Given the description of an element on the screen output the (x, y) to click on. 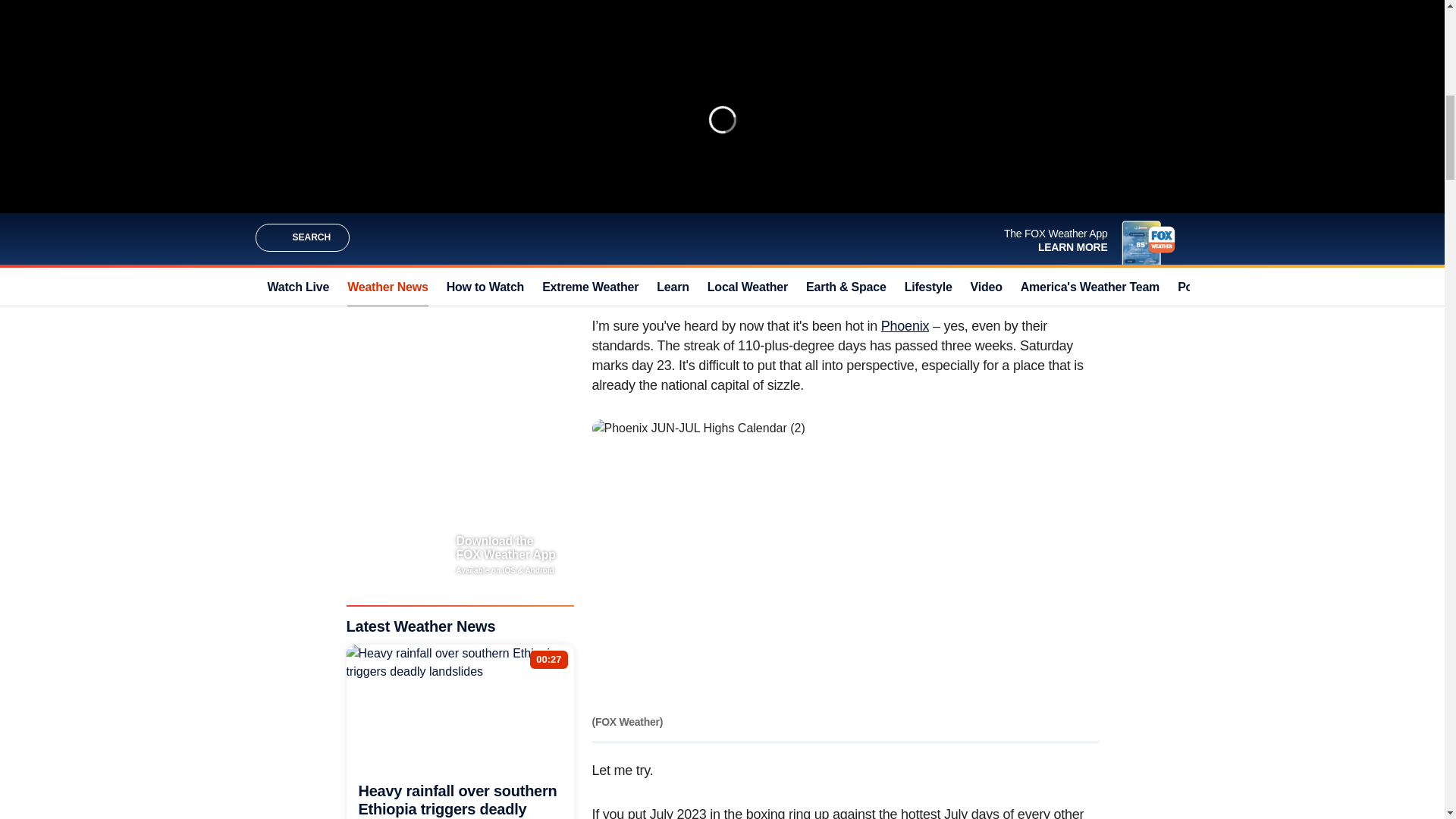
Southwest (908, 127)
Phoenix (904, 325)
